Given the description of an element on the screen output the (x, y) to click on. 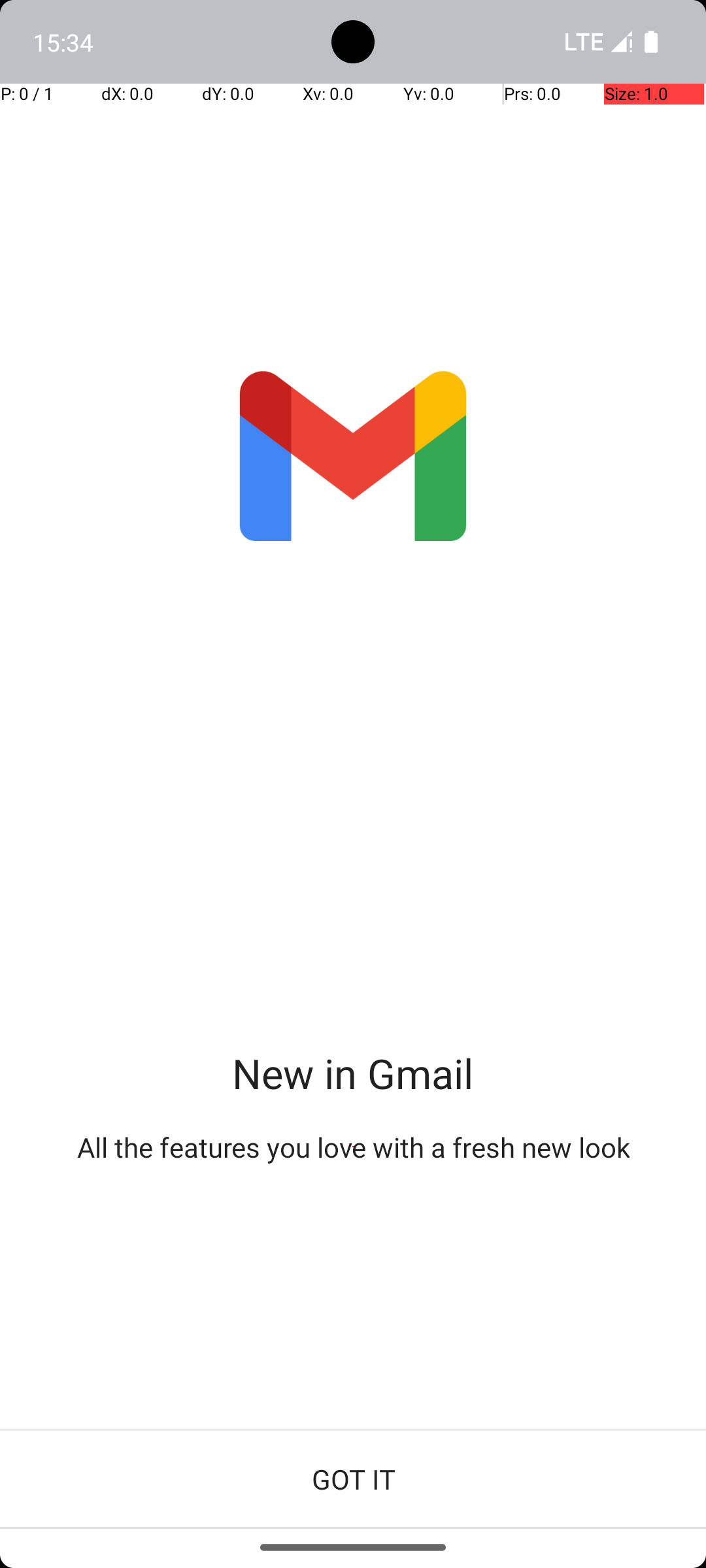
GOT IT Element type: android.widget.TextView (353, 1478)
New in Gmail Element type: android.widget.TextView (352, 1072)
All the features you love with a fresh new look Element type: android.widget.TextView (352, 1146)
